Given the description of an element on the screen output the (x, y) to click on. 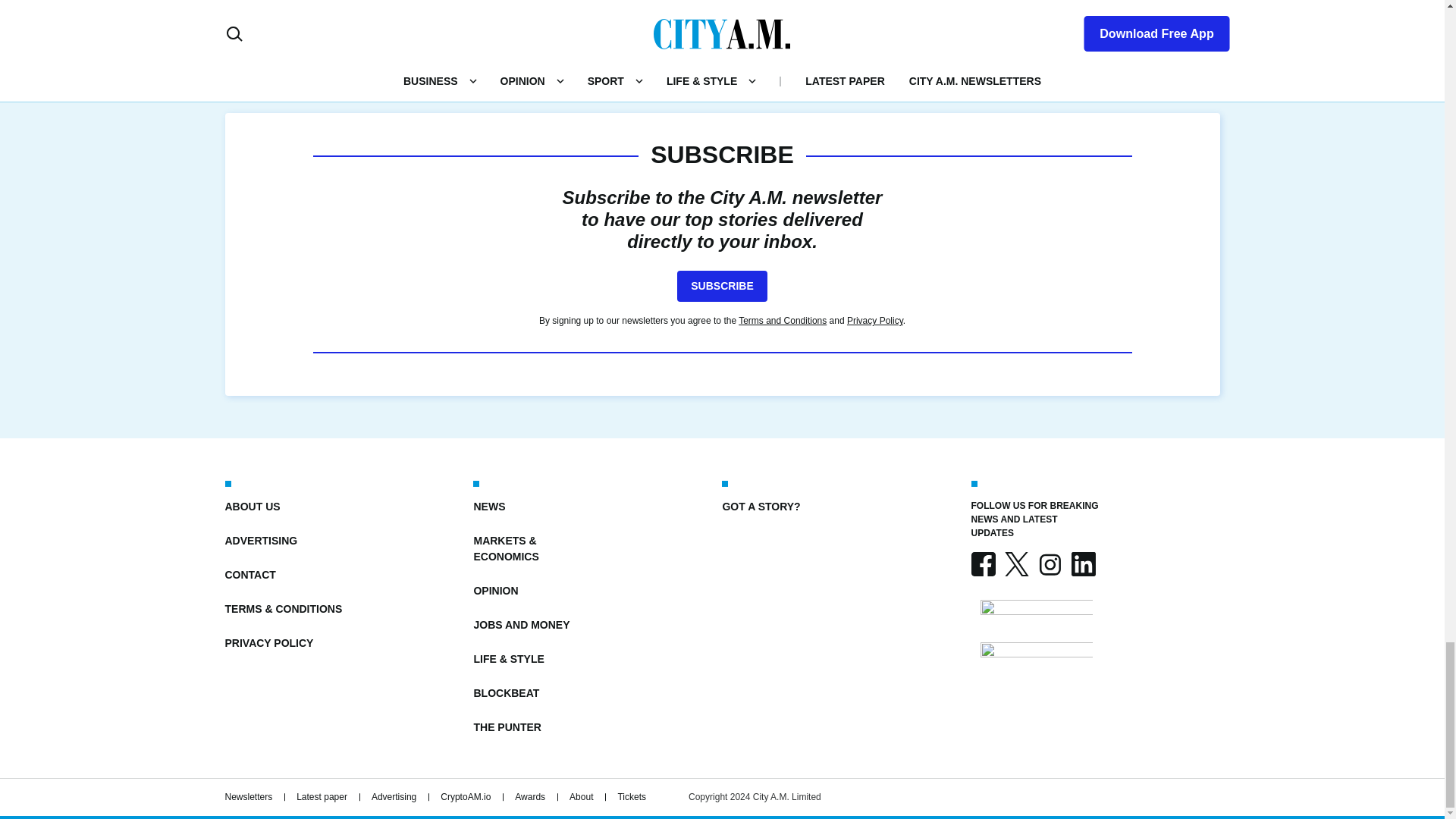
INSTAGRAM (1048, 564)
FACEBOOK (982, 564)
LINKEDIN (1082, 564)
X (1015, 564)
